Given the description of an element on the screen output the (x, y) to click on. 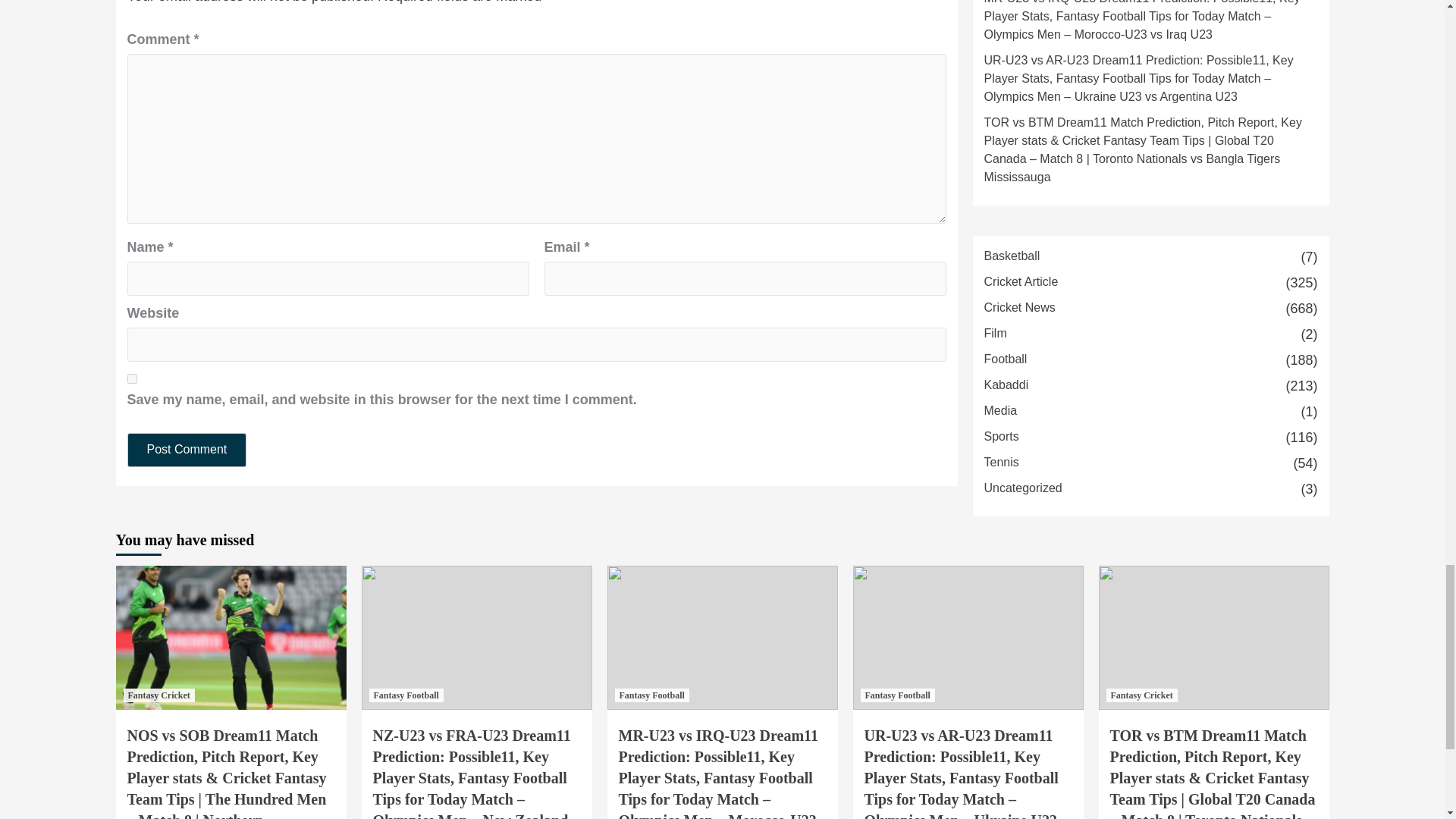
Post Comment (187, 449)
yes (132, 378)
